Given the description of an element on the screen output the (x, y) to click on. 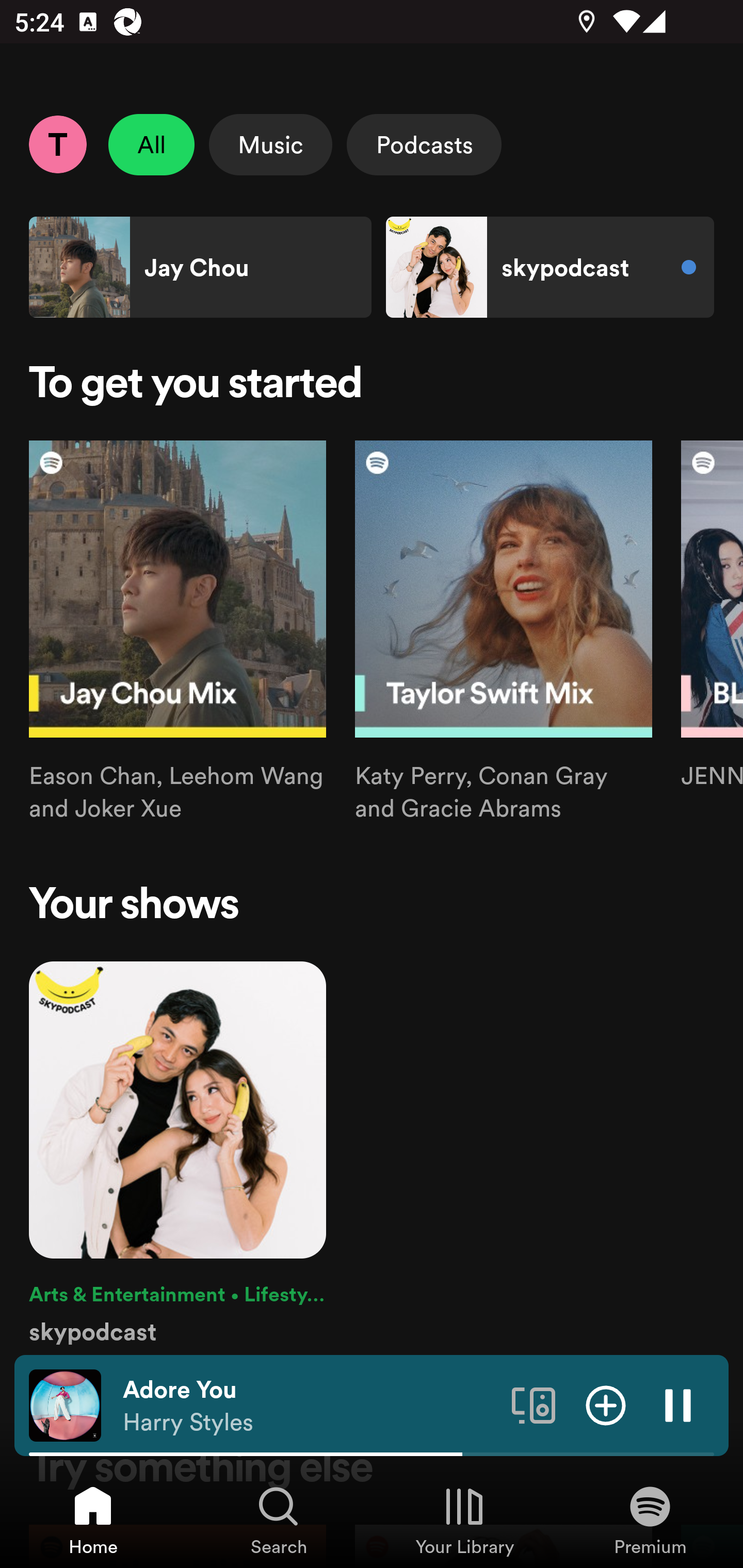
Profile (57, 144)
All Unselect All (151, 144)
Music Select Music (270, 144)
Podcasts Select Podcasts (423, 144)
Jay Chou Shortcut Jay Chou (199, 267)
skypodcast Shortcut skypodcast New content (549, 267)
Adore You Harry Styles (309, 1405)
The cover art of the currently playing track (64, 1404)
Connect to a device. Opens the devices menu (533, 1404)
Add item (605, 1404)
Pause (677, 1404)
Home, Tab 1 of 4 Home Home (92, 1519)
Search, Tab 2 of 4 Search Search (278, 1519)
Your Library, Tab 3 of 4 Your Library Your Library (464, 1519)
Premium, Tab 4 of 4 Premium Premium (650, 1519)
